Given the description of an element on the screen output the (x, y) to click on. 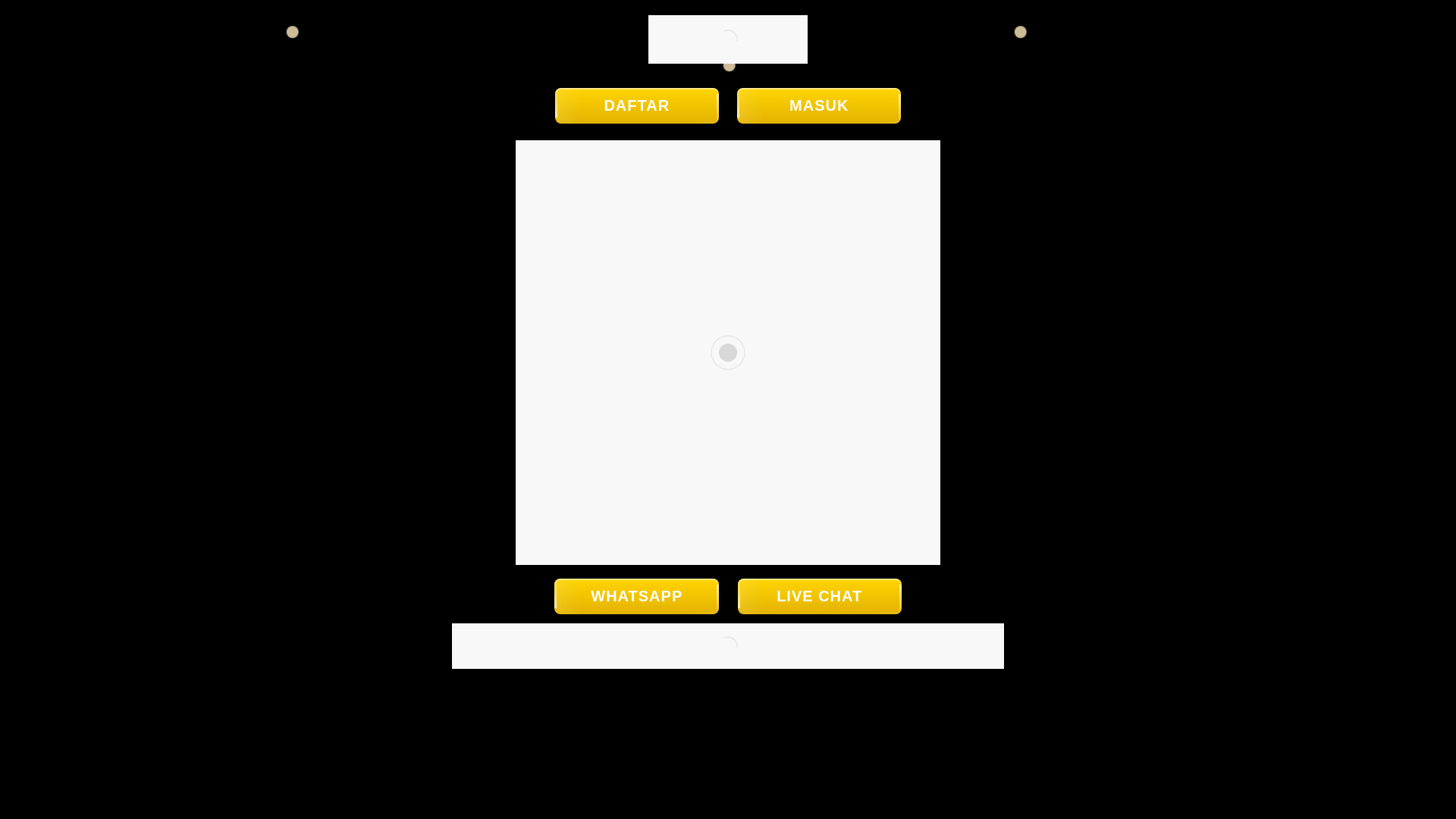
DAFTAR (636, 105)
LIVE CHAT (819, 596)
MASUK (818, 105)
WHATSAPP (636, 596)
